Given the description of an element on the screen output the (x, y) to click on. 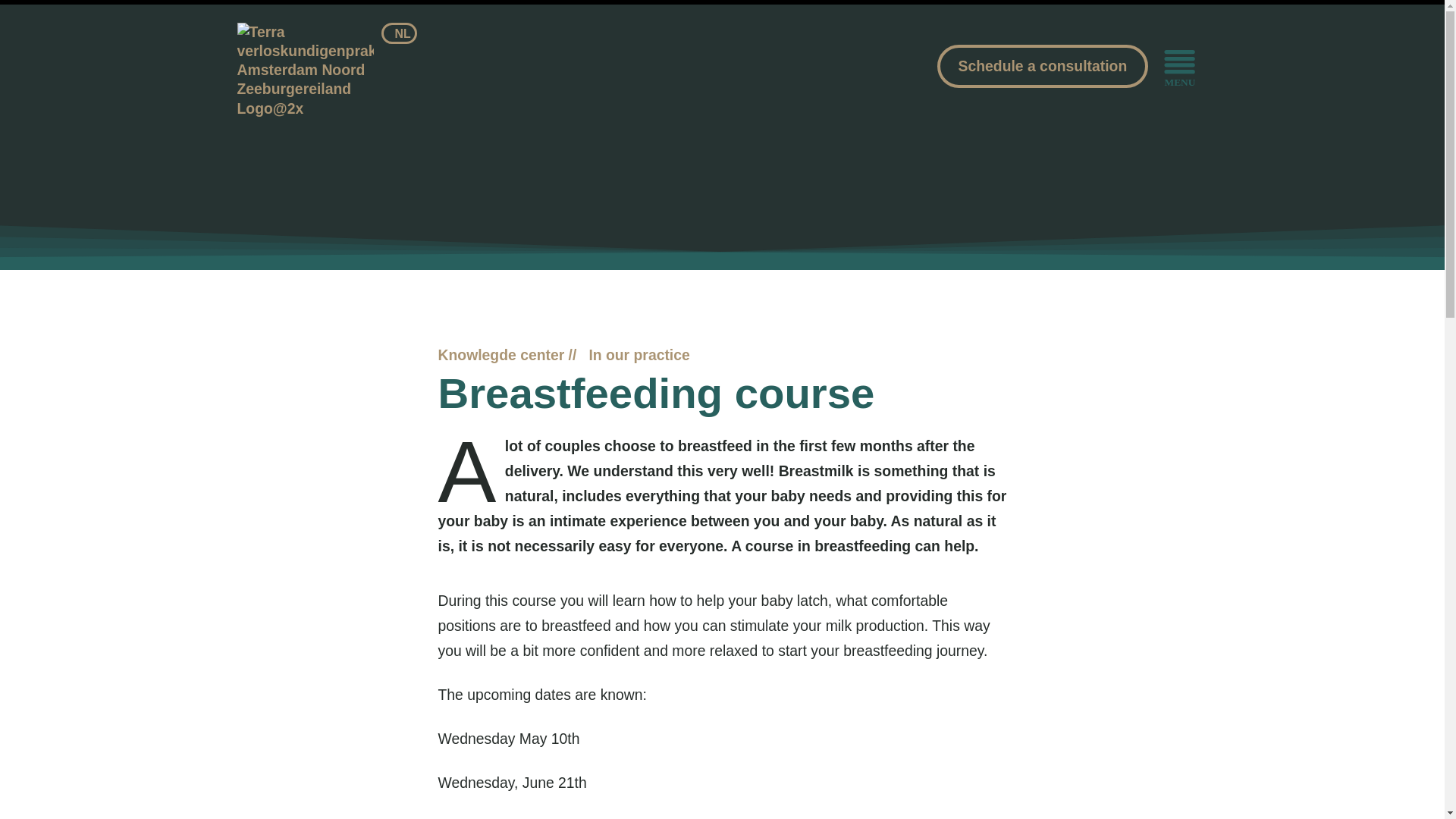
MENU (1179, 68)
MENU (1179, 68)
NL (399, 33)
In our practice (638, 354)
Schedule a consultation (1042, 66)
